Given the description of an element on the screen output the (x, y) to click on. 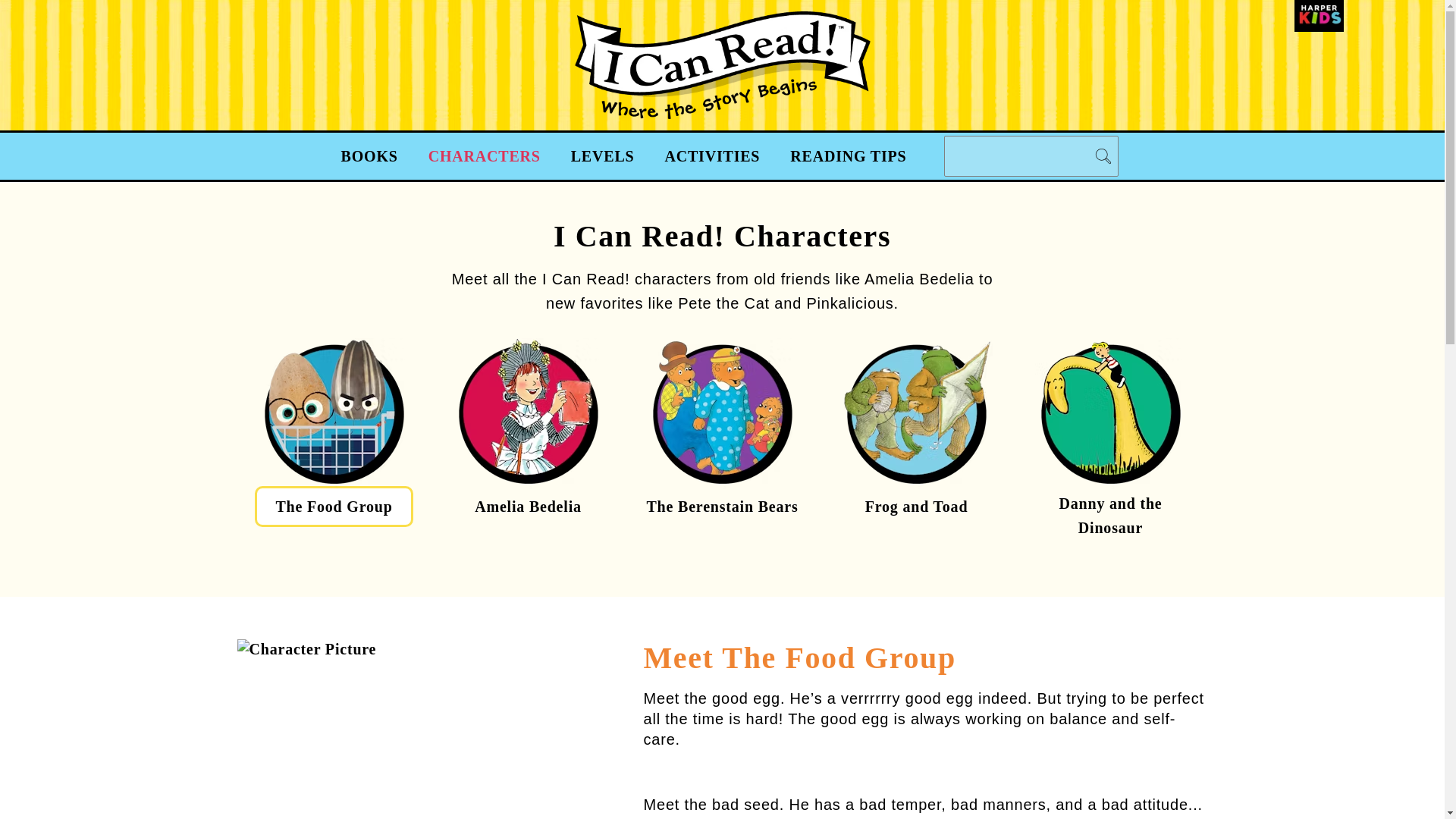
The Food Group (333, 506)
Characters (484, 156)
READING TIPS (847, 156)
Books (369, 156)
Amelia Bedelia (528, 506)
The Food Group (333, 506)
Frog and Toad (916, 506)
Reading Tips (847, 156)
Levels (602, 156)
Danny and the Dinosaur (1110, 515)
ACTIVITIES (711, 156)
CHARACTERS (484, 156)
BOOKS (369, 156)
Activities (711, 156)
The Berenstain Bears (722, 506)
